Given the description of an element on the screen output the (x, y) to click on. 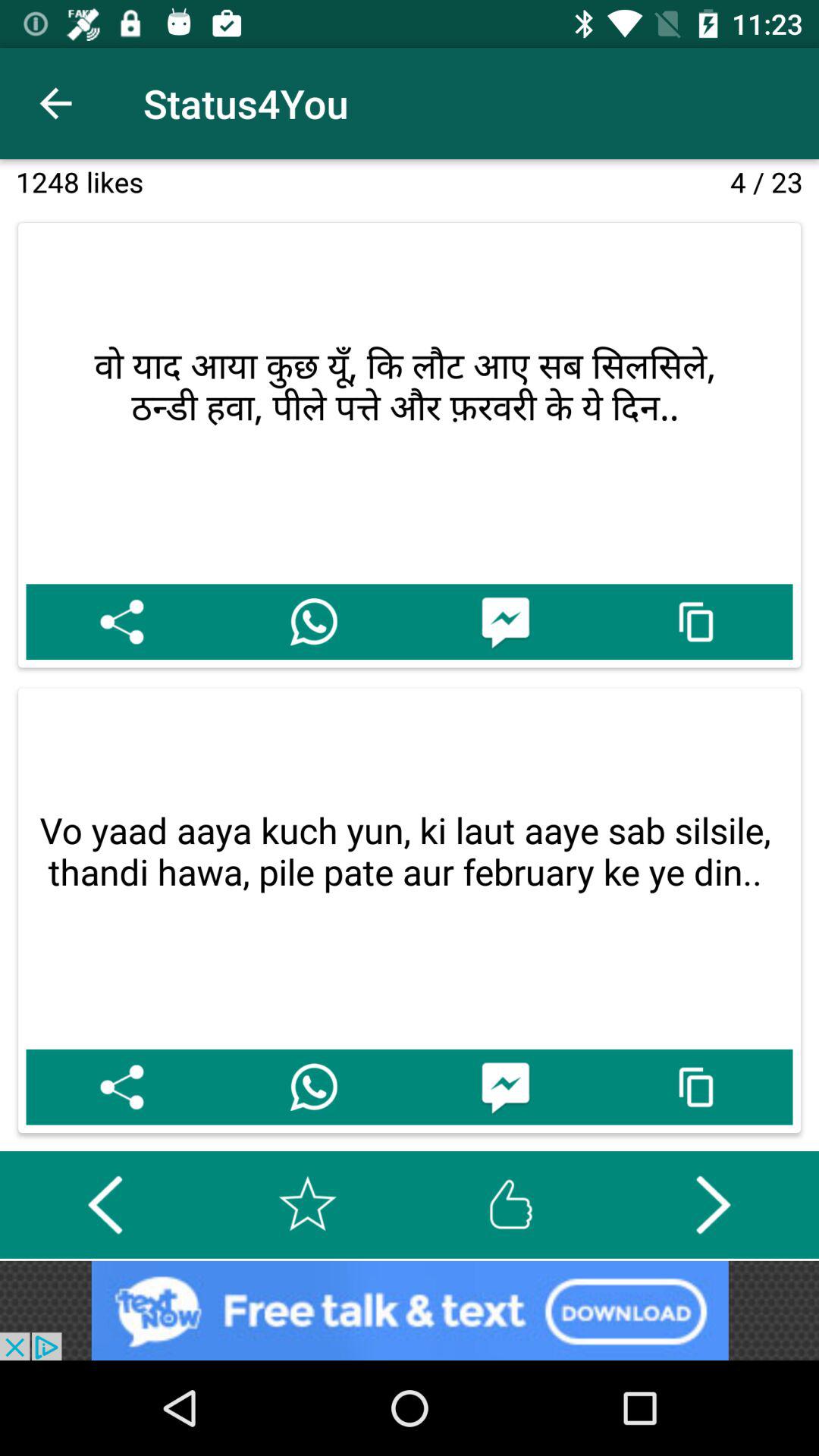
open item to the left of the status4you item (55, 103)
